Given the description of an element on the screen output the (x, y) to click on. 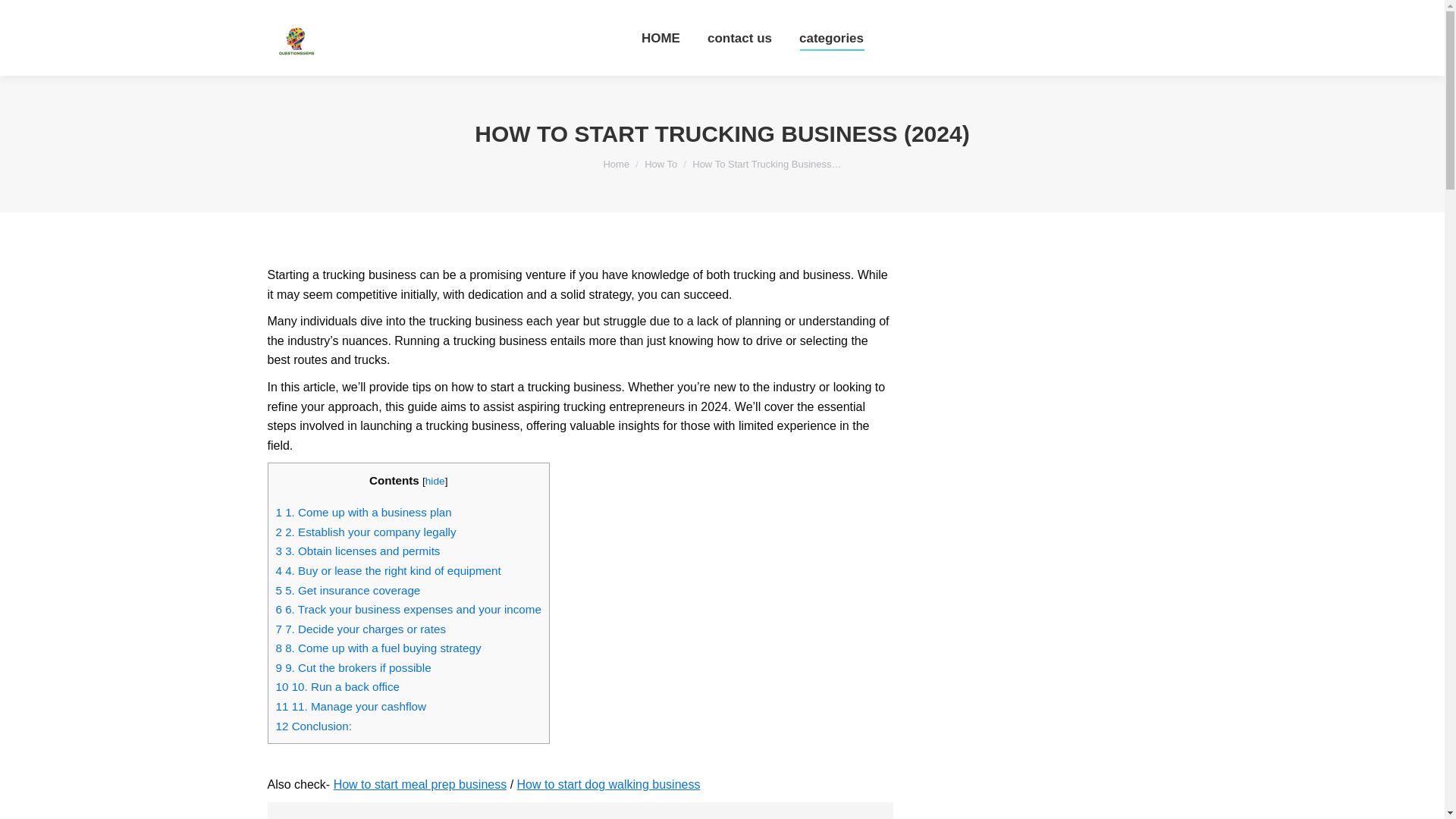
12 Conclusion: (314, 725)
6 6. Track your business expenses and your income (408, 608)
8 8. Come up with a fuel buying strategy (378, 647)
How to start dog walking business (608, 784)
contact us (739, 37)
1 1. Come up with a business plan (363, 512)
11 11. Manage your cashflow (351, 706)
Home (615, 163)
7 7. Decide your charges or rates (361, 628)
10 10. Run a back office (338, 686)
9 9. Cut the brokers if possible (353, 667)
4 4. Buy or lease the right kind of equipment (388, 570)
hide (435, 480)
How To (661, 163)
categories (831, 37)
